Given the description of an element on the screen output the (x, y) to click on. 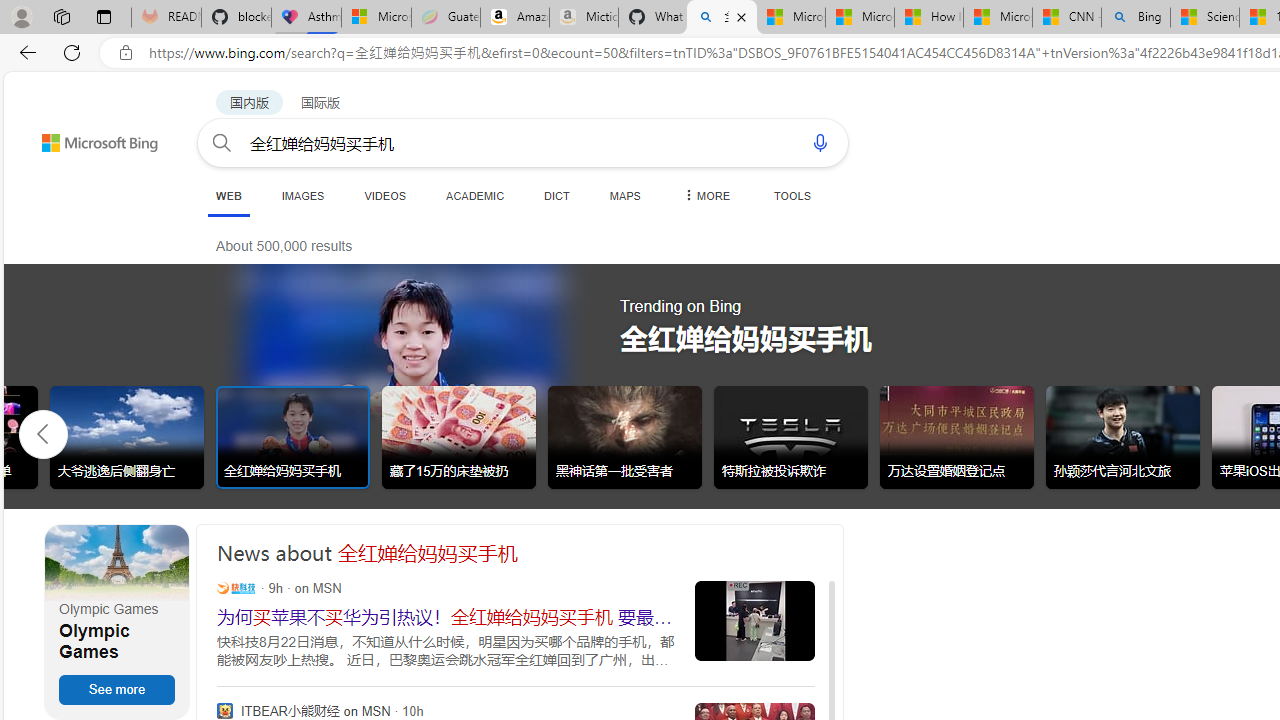
MAPS (624, 195)
Skip to content (63, 133)
IMAGES (302, 195)
CNN - MSN (1066, 17)
